Given the description of an element on the screen output the (x, y) to click on. 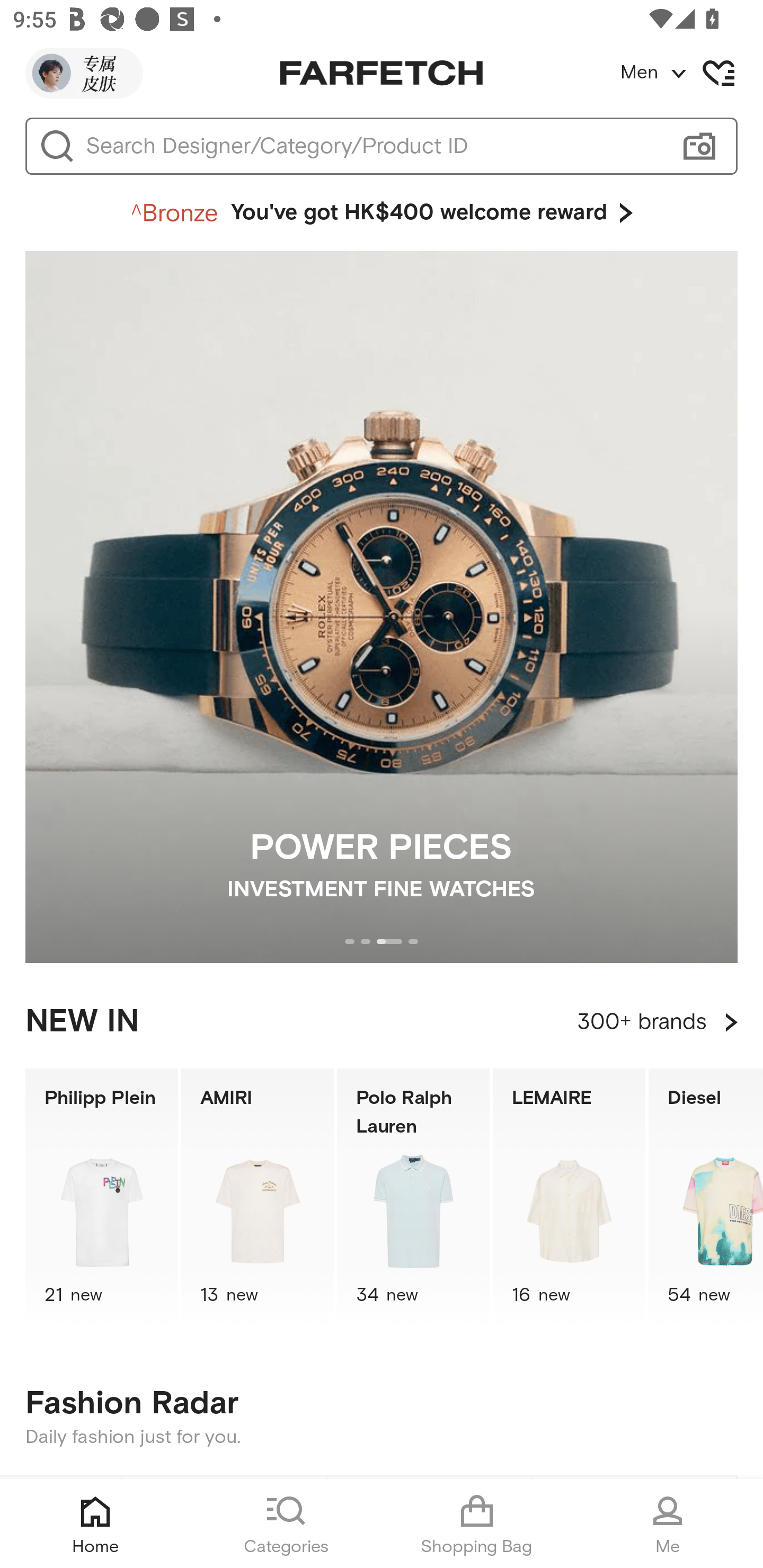
Men (691, 72)
Search Designer/Category/Product ID (373, 146)
You've got HK$400 welcome reward (381, 213)
NEW IN 300+ brands (381, 1021)
Philipp Plein 21  new (101, 1196)
AMIRI 13  new (257, 1196)
Polo Ralph Lauren 34  new (413, 1196)
LEMAIRE 16  new (568, 1196)
Diesel 54  new (705, 1196)
Categories (285, 1523)
Shopping Bag (476, 1523)
Me (667, 1523)
